Given the description of an element on the screen output the (x, y) to click on. 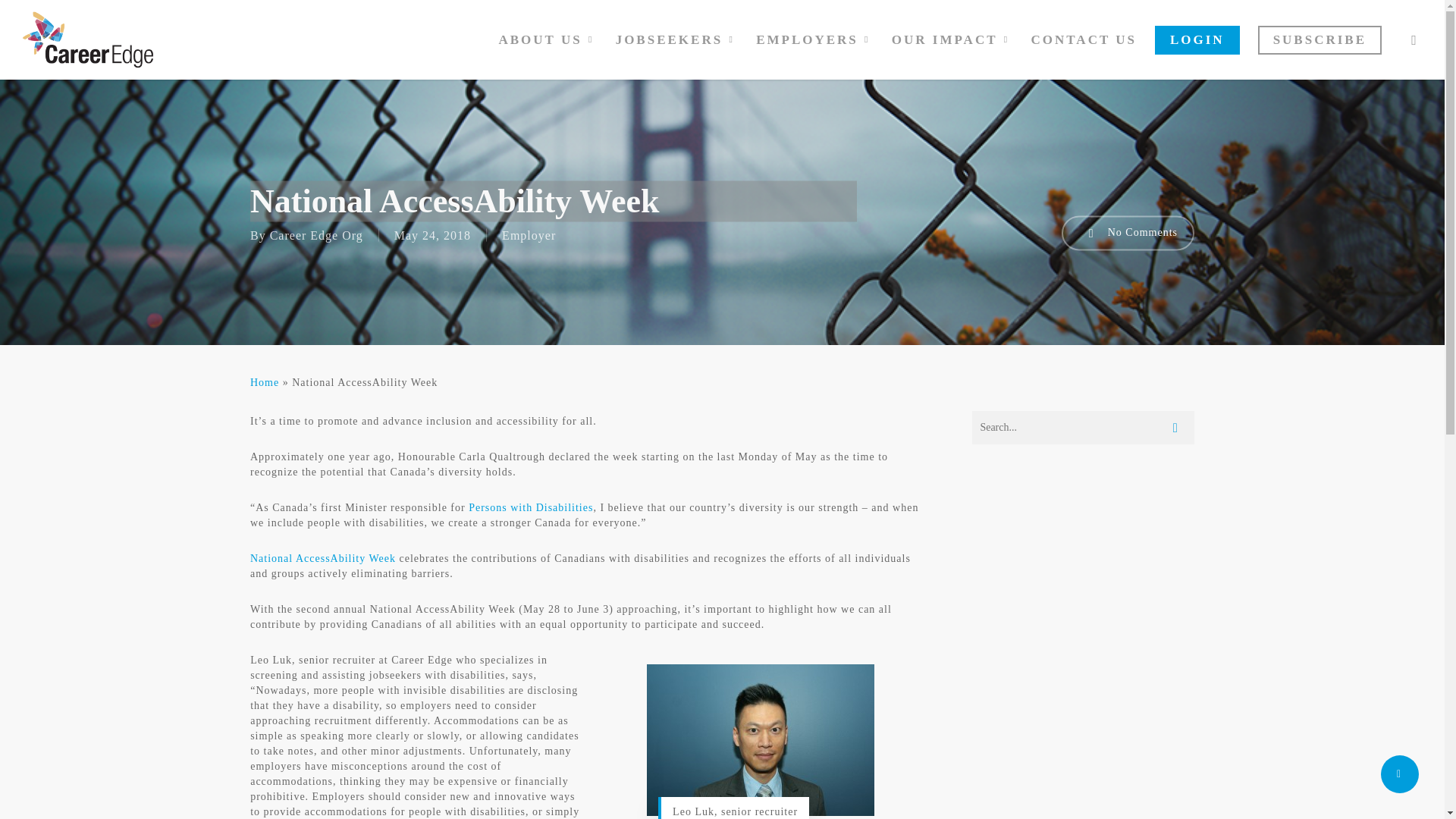
SUBSCRIBE (1319, 38)
Employer (529, 235)
Career Edge Org (315, 235)
EMPLOYERS (814, 38)
Home (264, 382)
National AccessAbility Week (323, 558)
Posts by Career Edge Org (315, 235)
LOGIN (1197, 38)
CONTACT US (1083, 38)
Search for: (1082, 427)
search (1414, 38)
No Comments (1127, 232)
OUR IMPACT (952, 38)
Persons with Disabilities (530, 507)
JOBSEEKERS (677, 38)
